Given the description of an element on the screen output the (x, y) to click on. 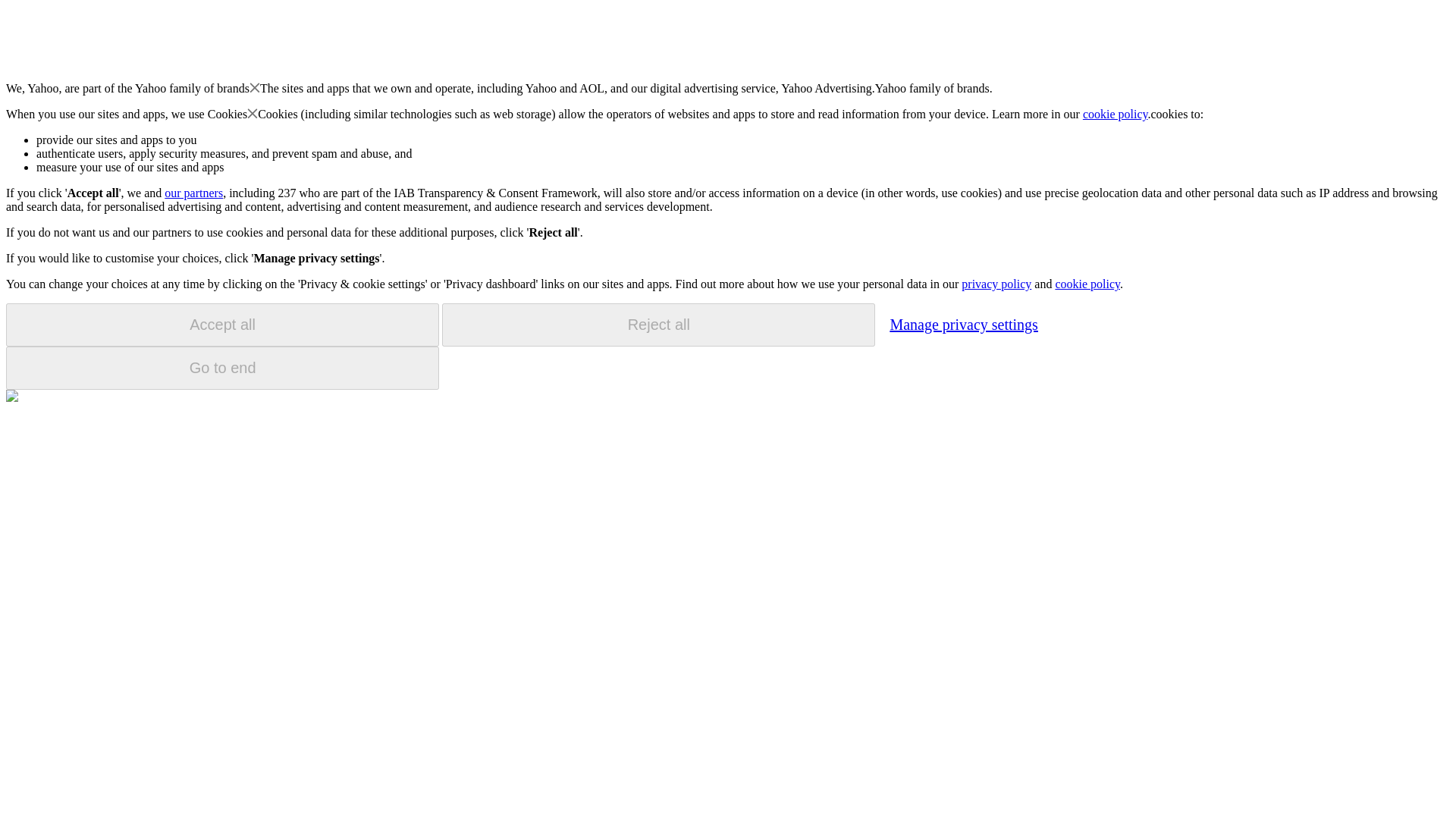
Go to end (222, 367)
our partners (193, 192)
cookie policy (1086, 283)
privacy policy (995, 283)
cookie policy (1115, 113)
Manage privacy settings (963, 323)
Accept all (222, 324)
Reject all (658, 324)
